Given the description of an element on the screen output the (x, y) to click on. 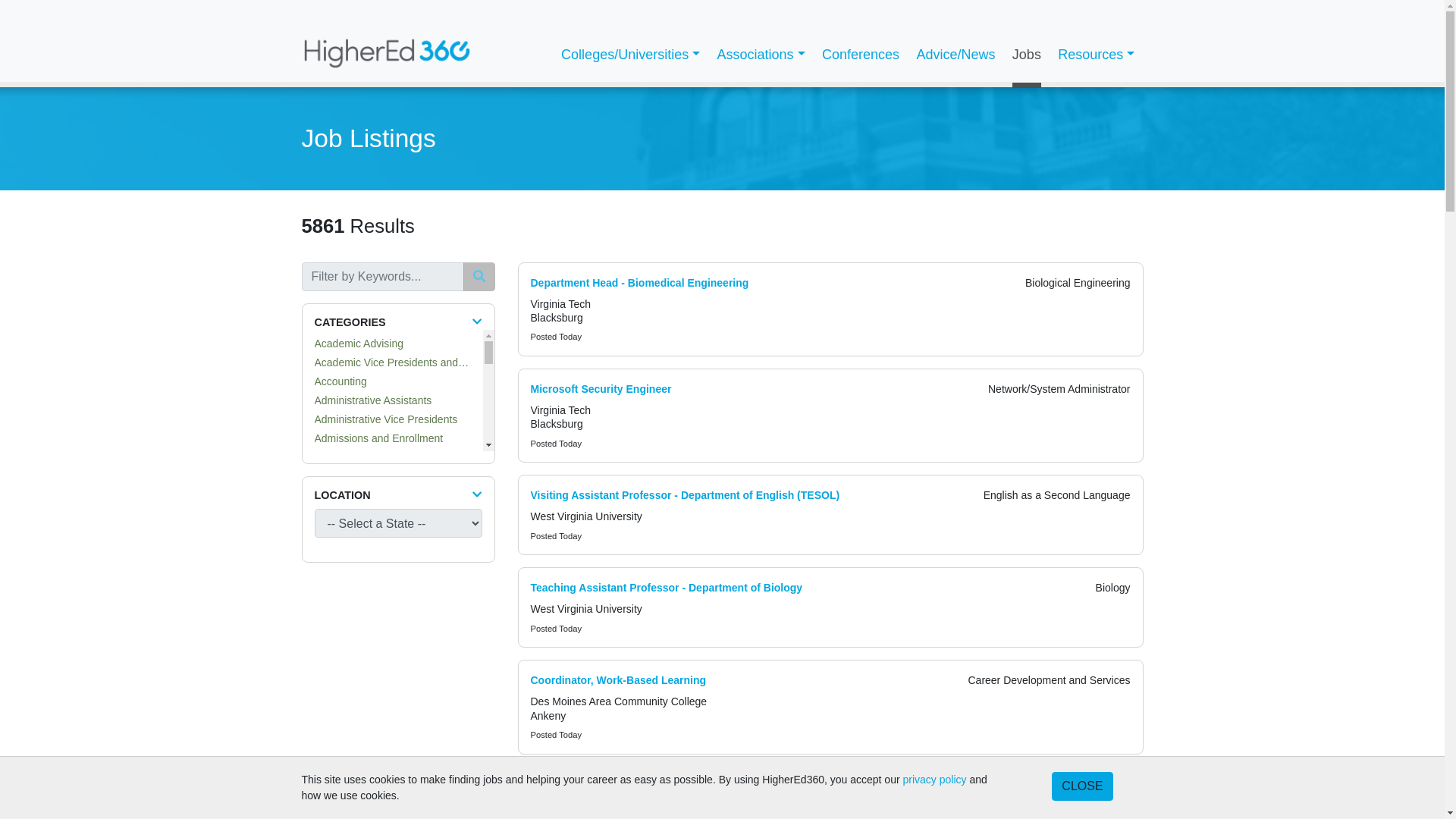
Jobs (1026, 54)
Academic Advising (358, 343)
Administrative Vice Presidents (385, 419)
Accounting (340, 381)
Administrative Assistants (372, 399)
Academic Vice Presidents and Provosts (408, 362)
Associations (759, 54)
Resources (1095, 54)
Conferences (860, 54)
